Given the description of an element on the screen output the (x, y) to click on. 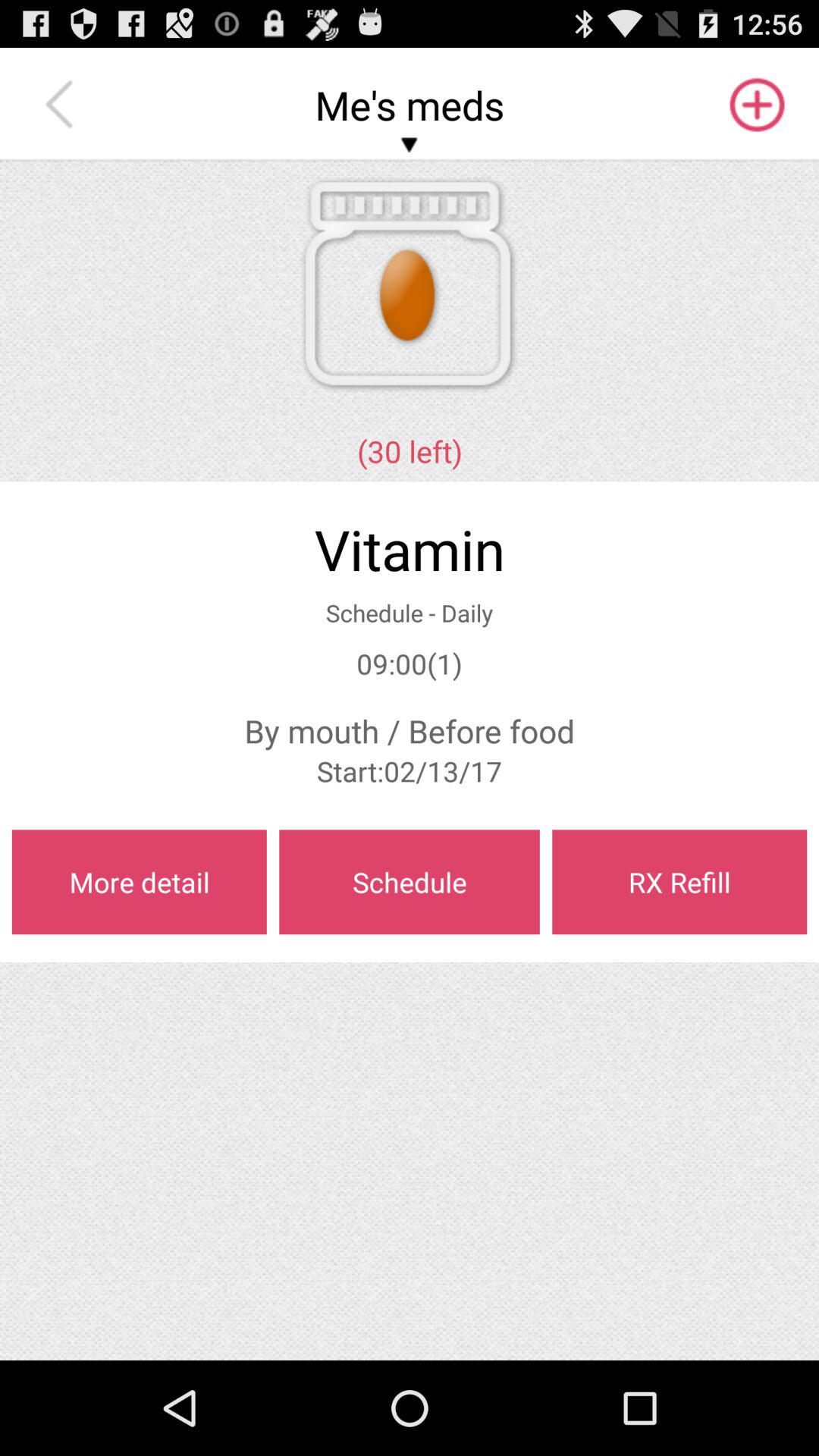
select app above the (30 left) app (755, 104)
